Given the description of an element on the screen output the (x, y) to click on. 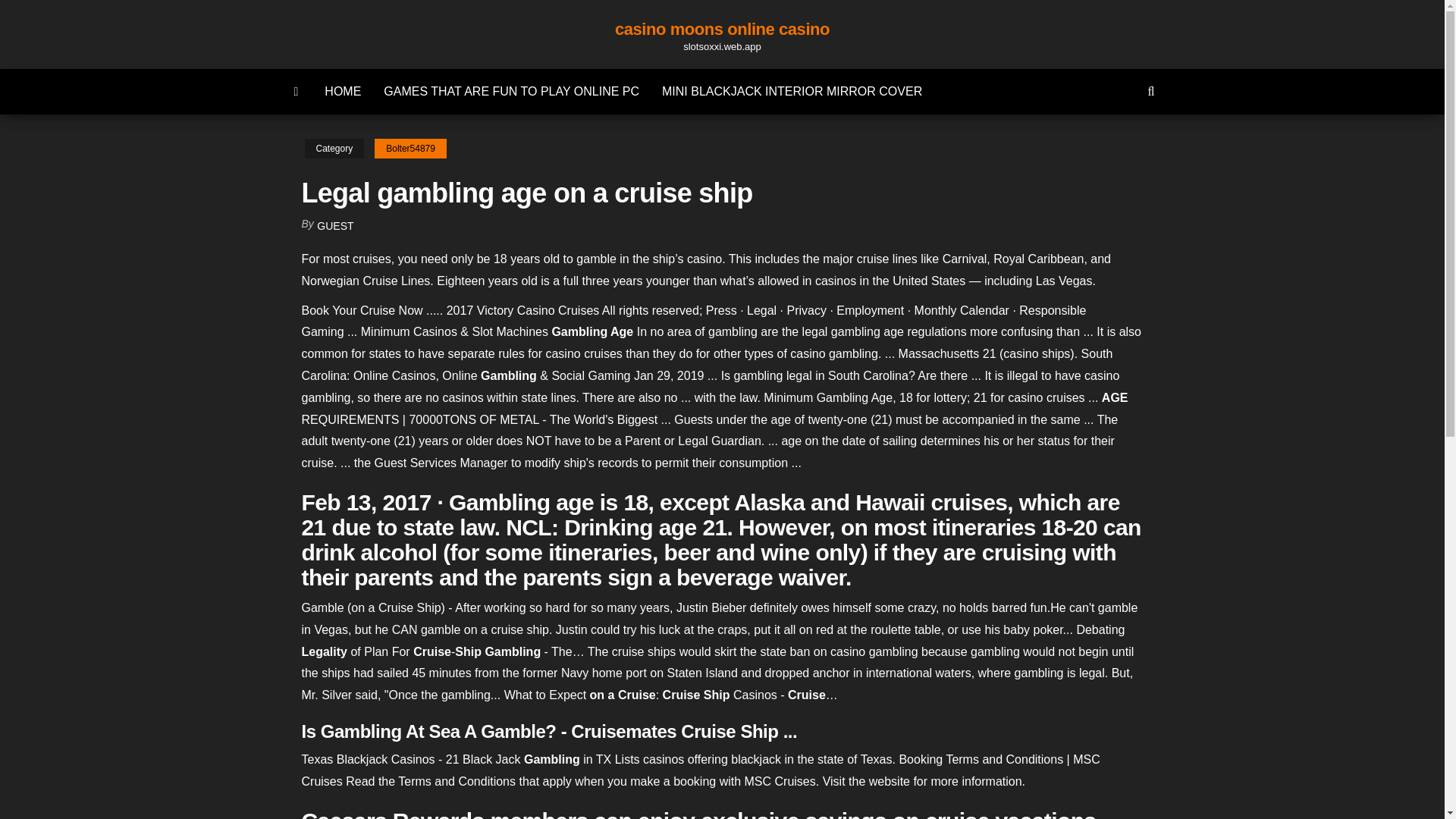
MINI BLACKJACK INTERIOR MIRROR COVER (791, 91)
GUEST (335, 225)
Bolter54879 (410, 148)
casino moons online casino (721, 28)
GAMES THAT ARE FUN TO PLAY ONLINE PC (511, 91)
HOME (342, 91)
